Given the description of an element on the screen output the (x, y) to click on. 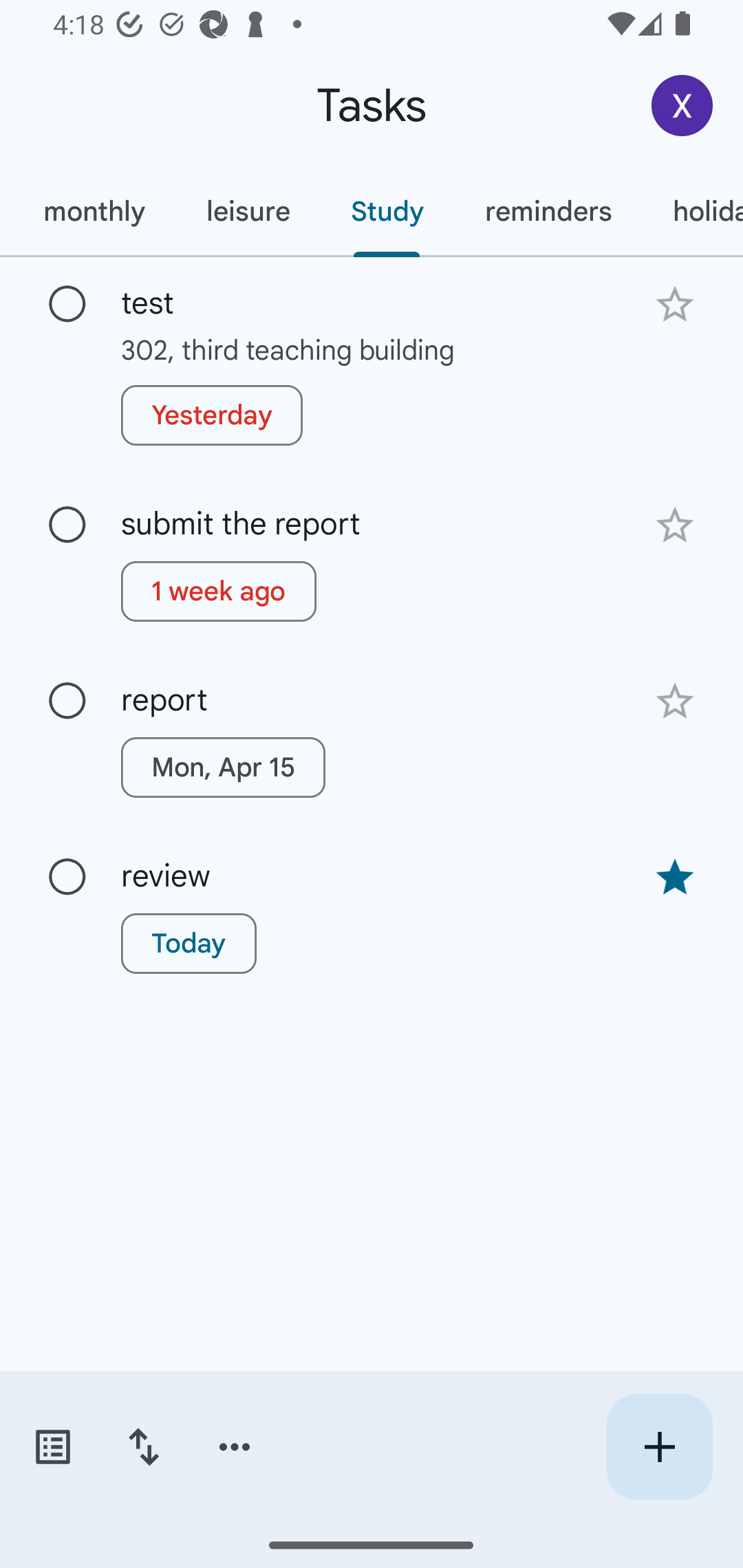
monthly (93, 211)
leisure (247, 211)
reminders (547, 211)
holiday planning (692, 211)
Add star (674, 303)
Mark as complete (67, 304)
302, third teaching building (371, 349)
Yesterday (211, 415)
Add star (674, 524)
Mark as complete (67, 525)
1 week ago (218, 590)
Add star (674, 700)
Mark as complete (67, 701)
Mon, Apr 15 (223, 767)
Remove star (674, 877)
Mark as complete (67, 877)
Today (188, 943)
Switch task lists (52, 1447)
Create new task (659, 1446)
Change sort order (143, 1446)
More options (234, 1446)
